Given the description of an element on the screen output the (x, y) to click on. 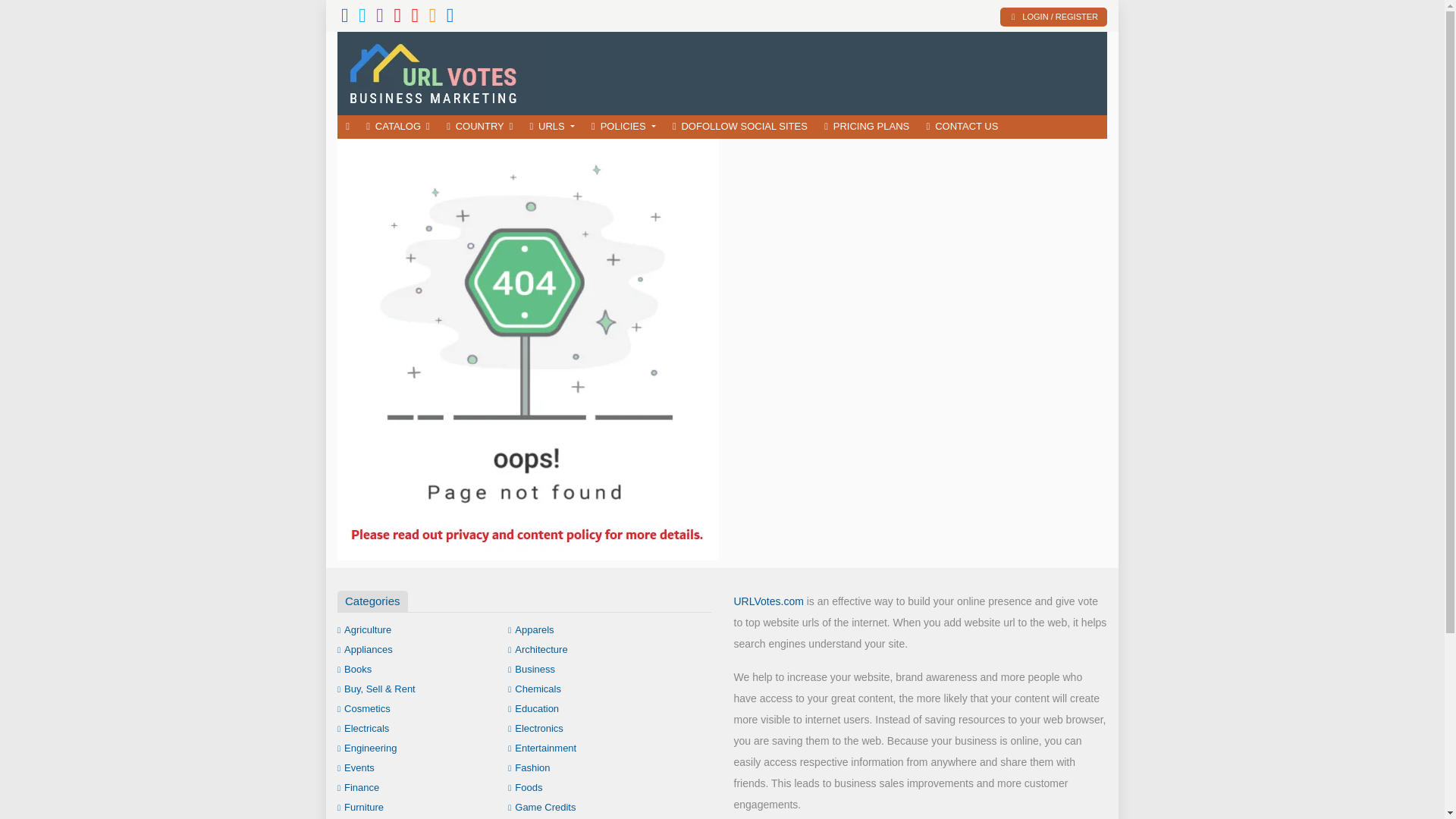
URLS (552, 126)
COUNTRY (479, 126)
Social Media Platform to Improve Your Brand Popularity (447, 71)
CATALOG (398, 126)
